Given the description of an element on the screen output the (x, y) to click on. 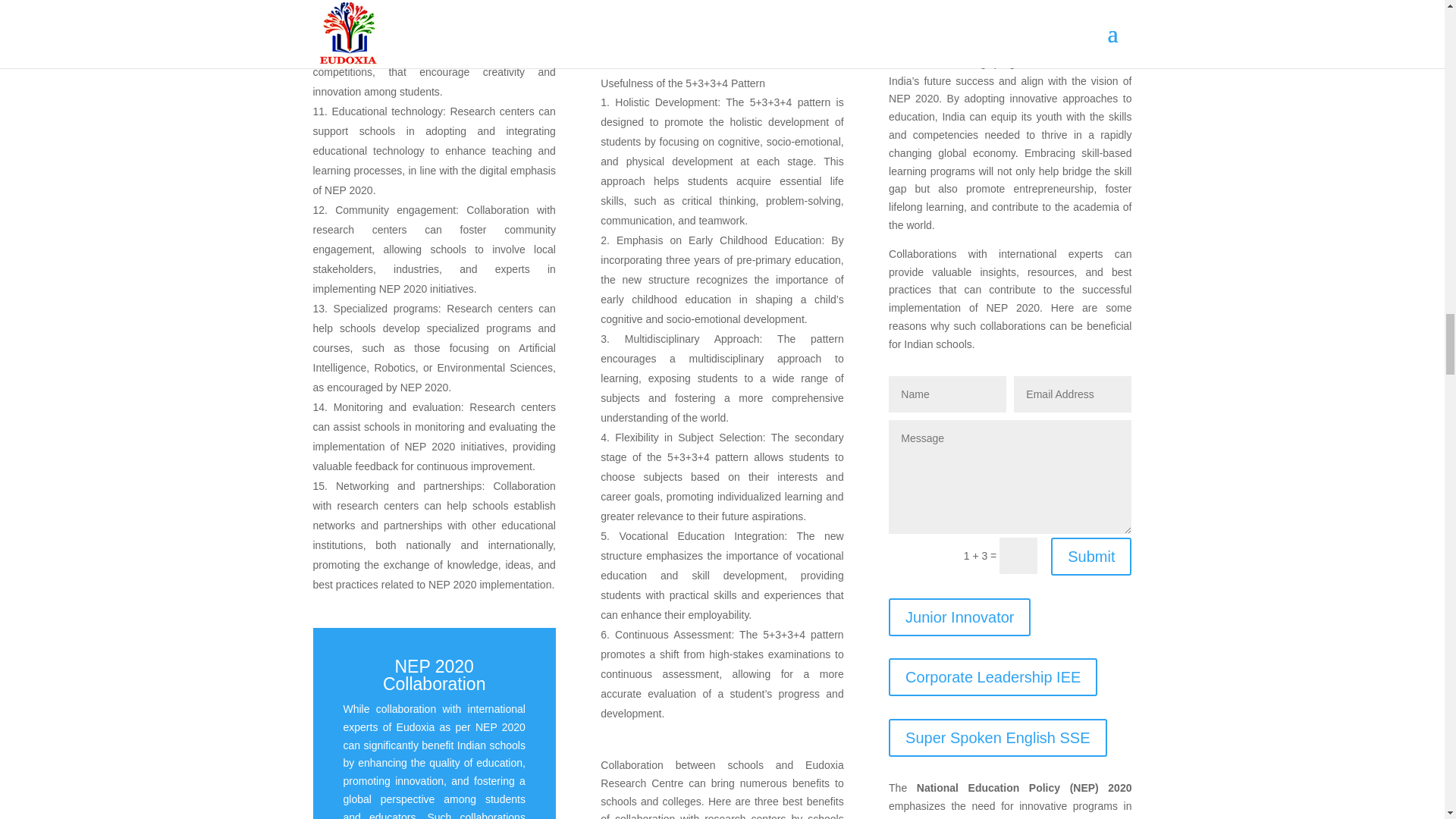
Corporate Leadership IEE (992, 677)
Junior Innovator (959, 617)
Submit (1091, 556)
Super Spoken English SSE (997, 737)
